Given the description of an element on the screen output the (x, y) to click on. 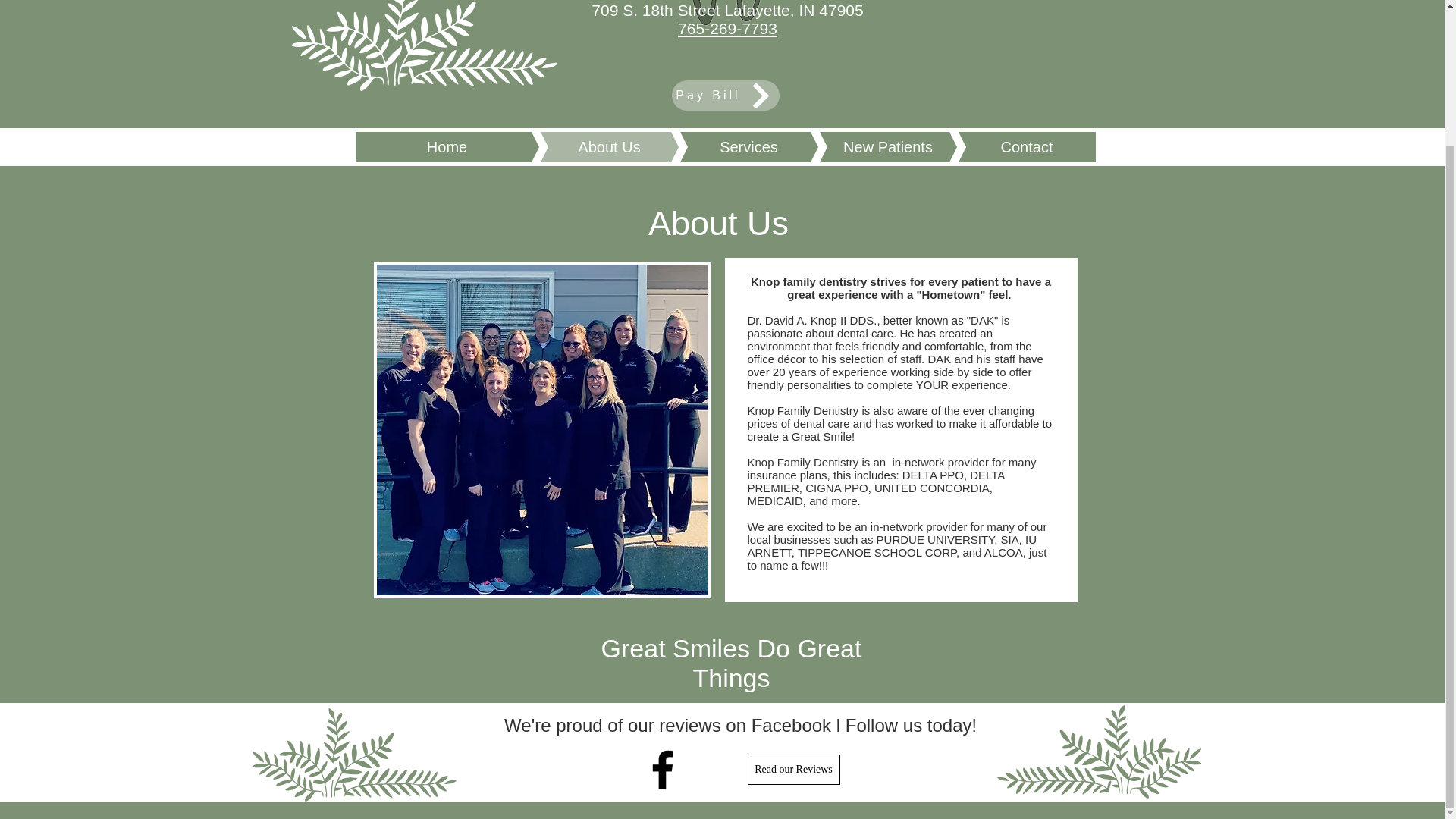
Pay Bill (724, 95)
Services (724, 146)
Read our Reviews (794, 769)
New Patients (864, 146)
Contact (1004, 146)
Home (446, 146)
765-269-7793 (727, 27)
About Us (586, 146)
